Given the description of an element on the screen output the (x, y) to click on. 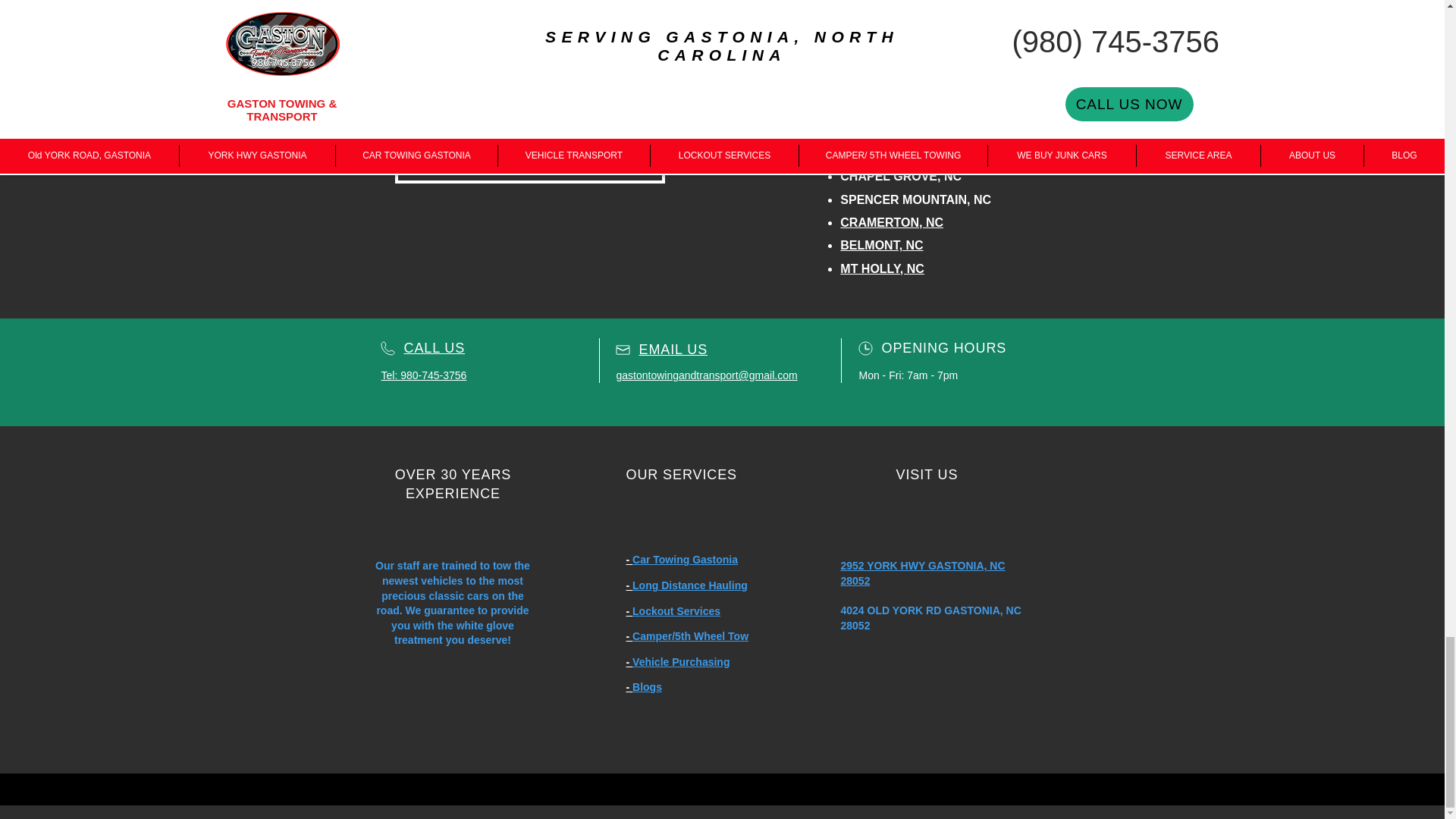
CROWDERS MOUNTAIN, NC (922, 153)
- Lockout Services (673, 611)
- Car Towing Gastonia (682, 559)
- Vehicle Purchasing (678, 662)
BESSEMER CITY, NC (901, 129)
Tel: 980-745-3756 (422, 375)
- Blogs (644, 686)
CHERRYVILLE, NC (894, 38)
MT HOLLY, NC (882, 268)
MCADENVILLE, NC (896, 83)
DALLAS, NC (877, 14)
- Long Distance Hauling (687, 585)
EMAIL US (673, 349)
CALL US (433, 347)
LOWELL, NC (877, 60)
